Given the description of an element on the screen output the (x, y) to click on. 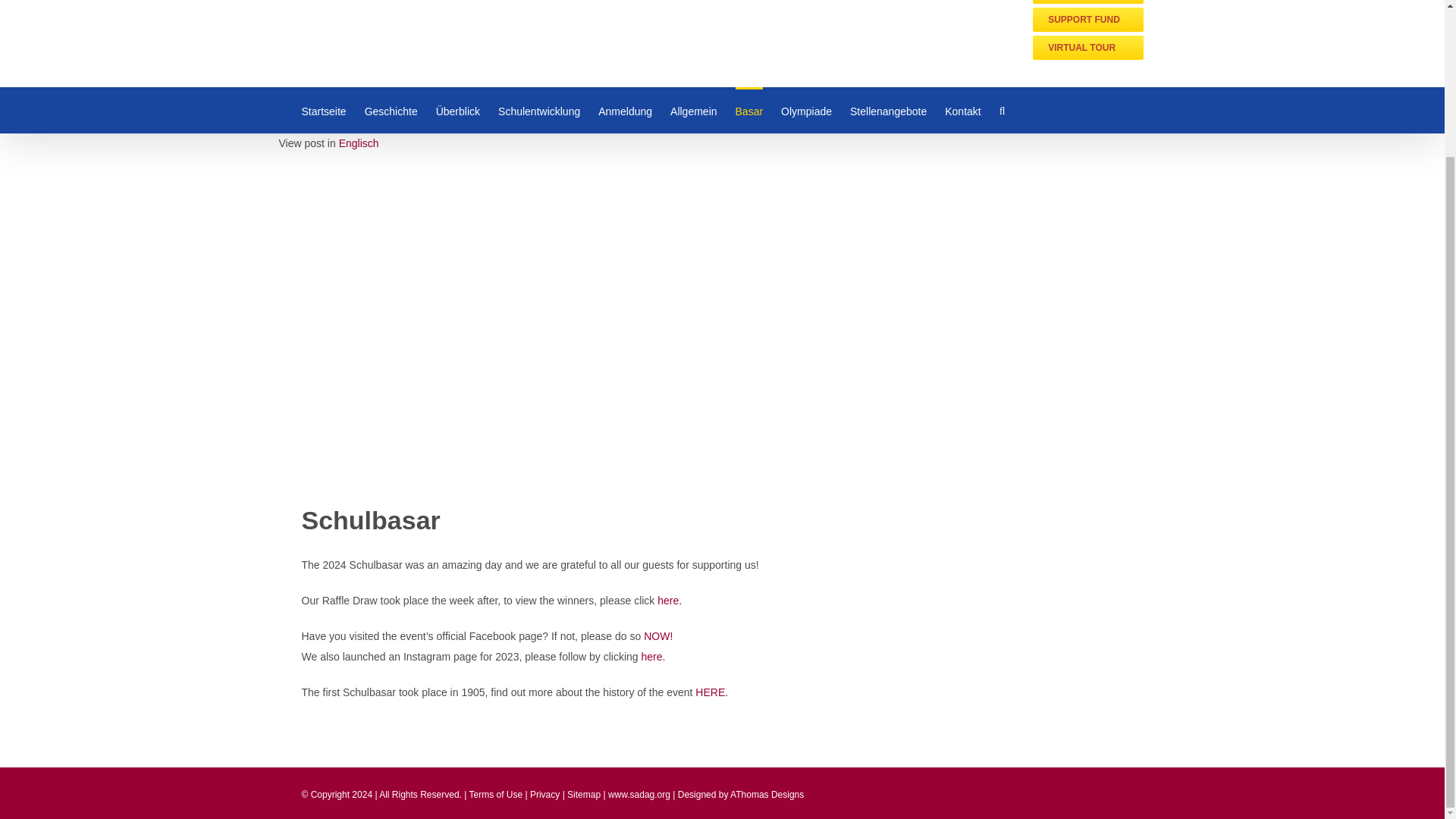
Startseite (323, 109)
RUNDSCHREIBEN (1087, 2)
SUPPORT FUND (1087, 19)
Geschichte (391, 109)
VIRTUAL TOUR (1087, 47)
